Given the description of an element on the screen output the (x, y) to click on. 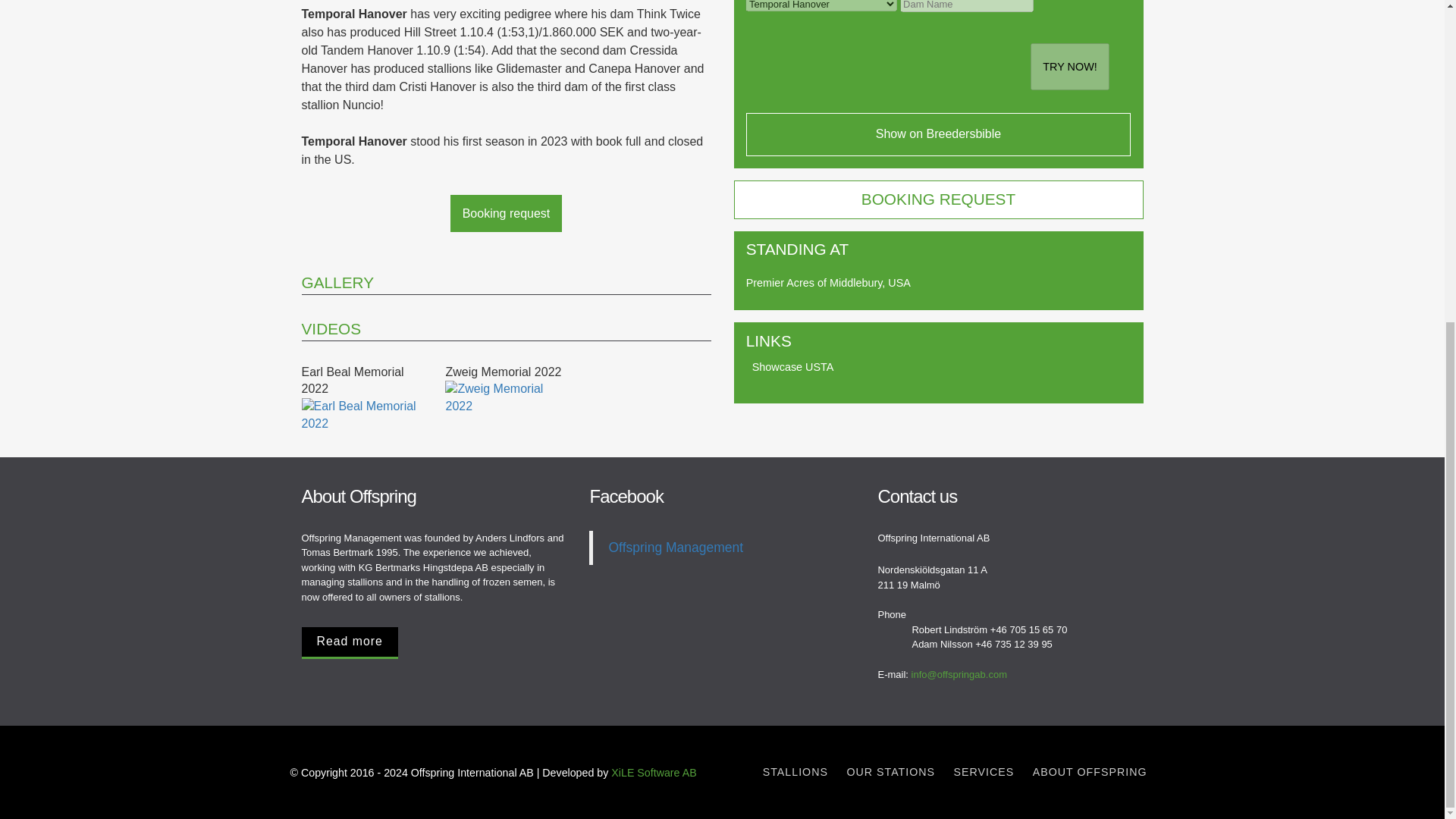
SERVICES (983, 771)
BOOKING REQUEST (937, 199)
Premier Acres of Middlebury, USA (828, 282)
Read more (434, 643)
Booking request (505, 212)
  Showcase USTA (789, 367)
Offspring Management (675, 547)
OUR STATIONS (889, 771)
STALLIONS (795, 771)
Show on Breedersbible (938, 134)
XiLE Software AB (653, 772)
Read more (349, 643)
ABOUT OFFSPRING (1089, 771)
TRY NOW! (1069, 66)
